Given the description of an element on the screen output the (x, y) to click on. 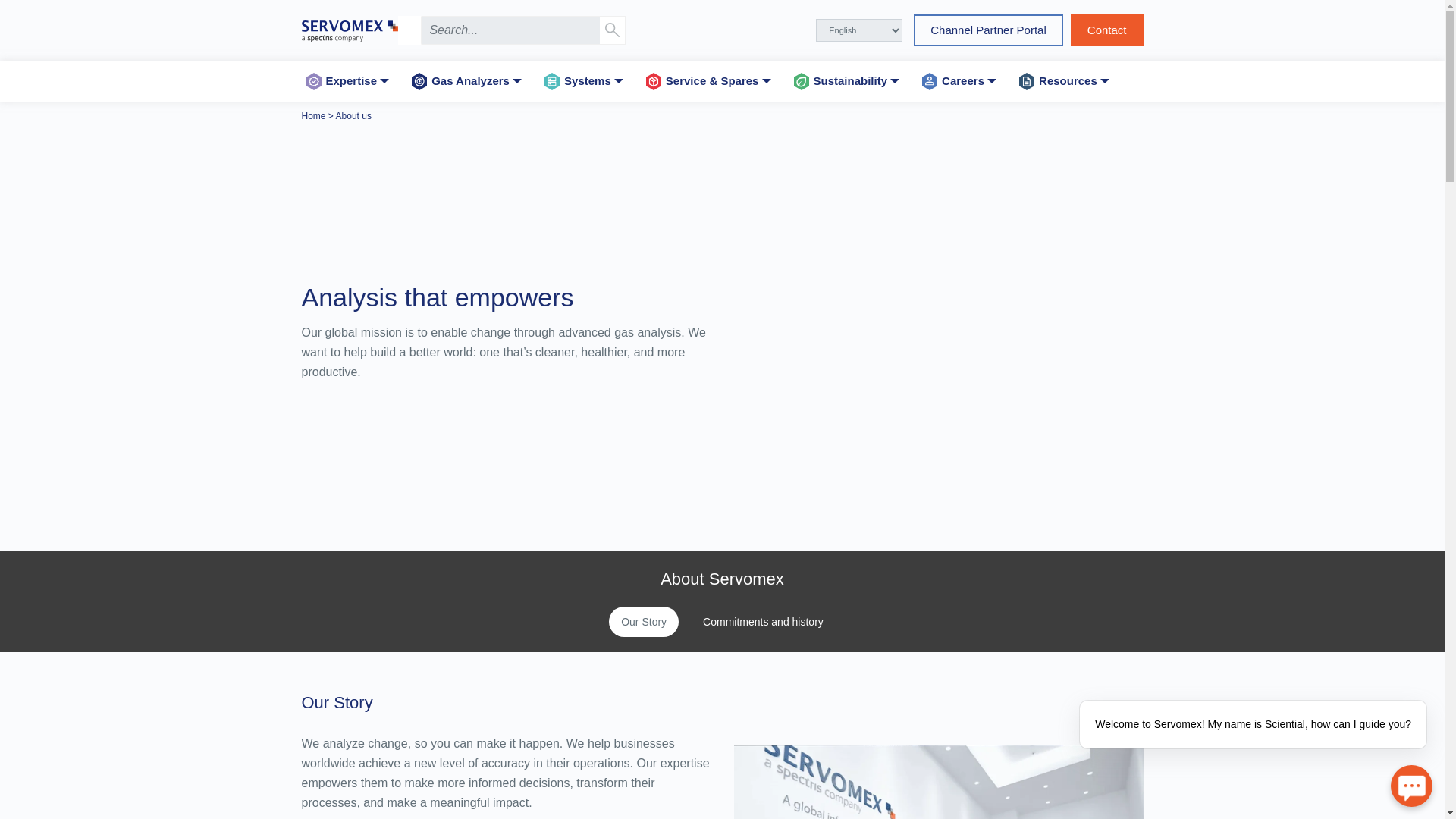
Gas Analyzers (467, 81)
Contact (1106, 30)
Channel Partner Portal (988, 30)
Expertise (348, 81)
